Given the description of an element on the screen output the (x, y) to click on. 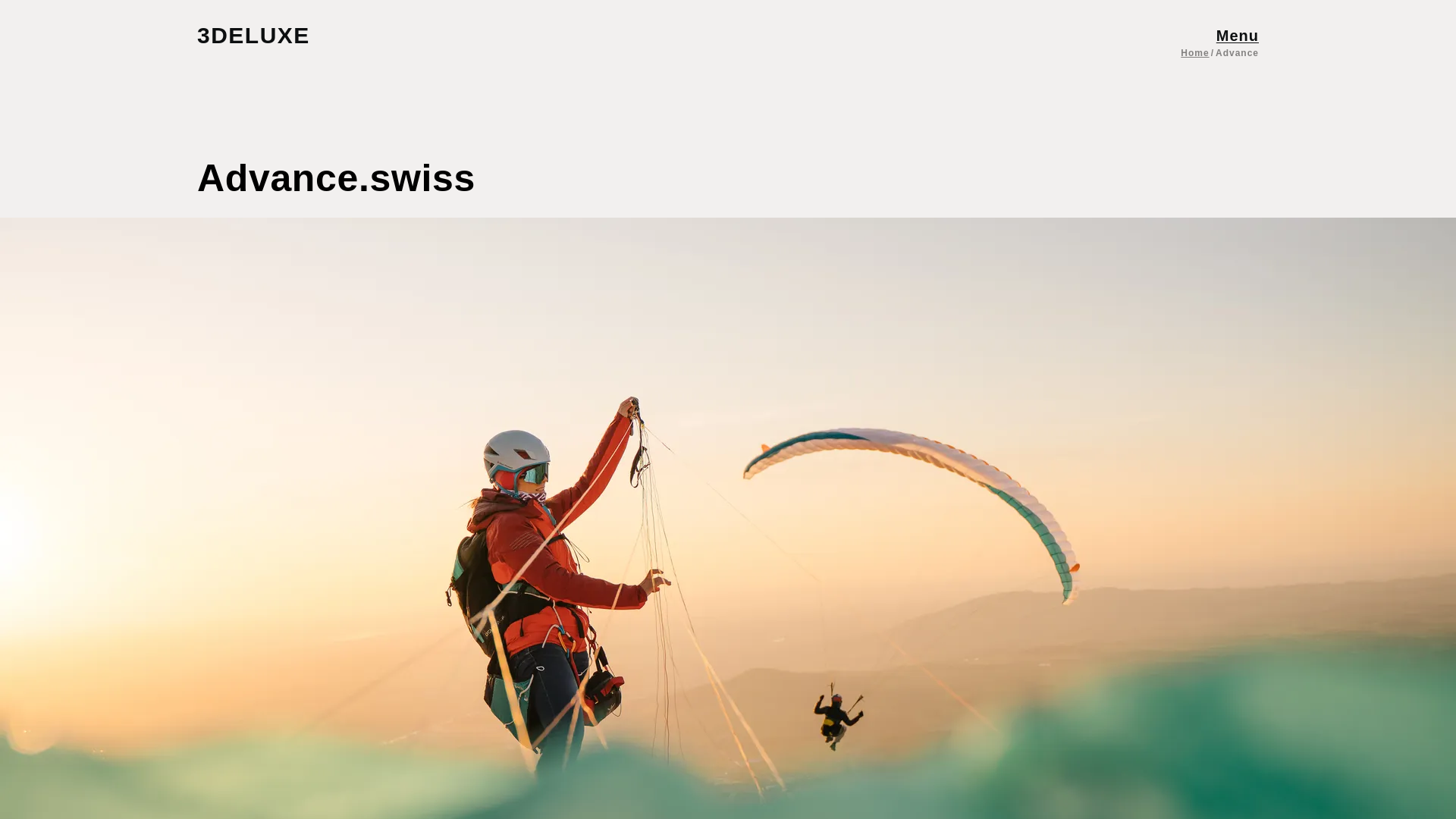
3DELUXE (268, 35)
Home (1194, 52)
Menu (1237, 35)
